Given the description of an element on the screen output the (x, y) to click on. 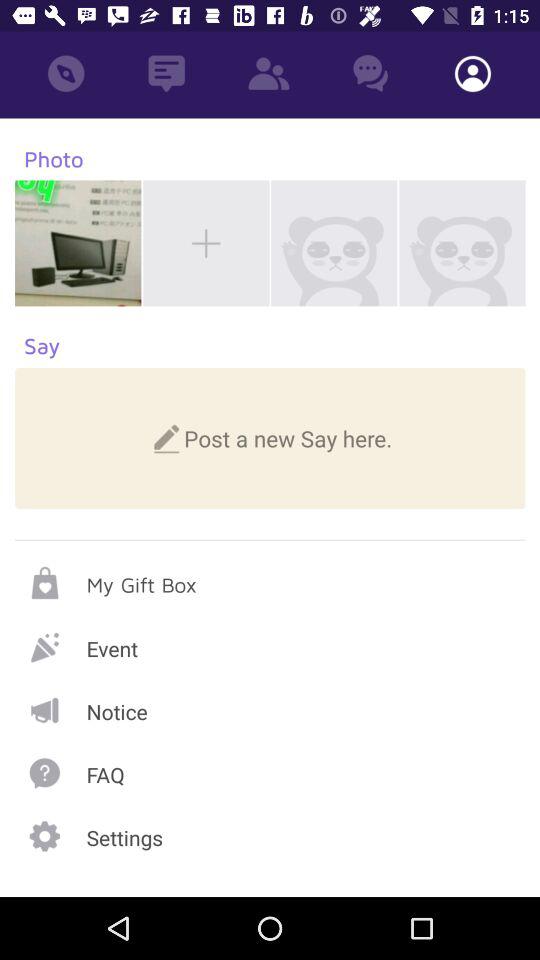
read the faq (270, 772)
